Given the description of an element on the screen output the (x, y) to click on. 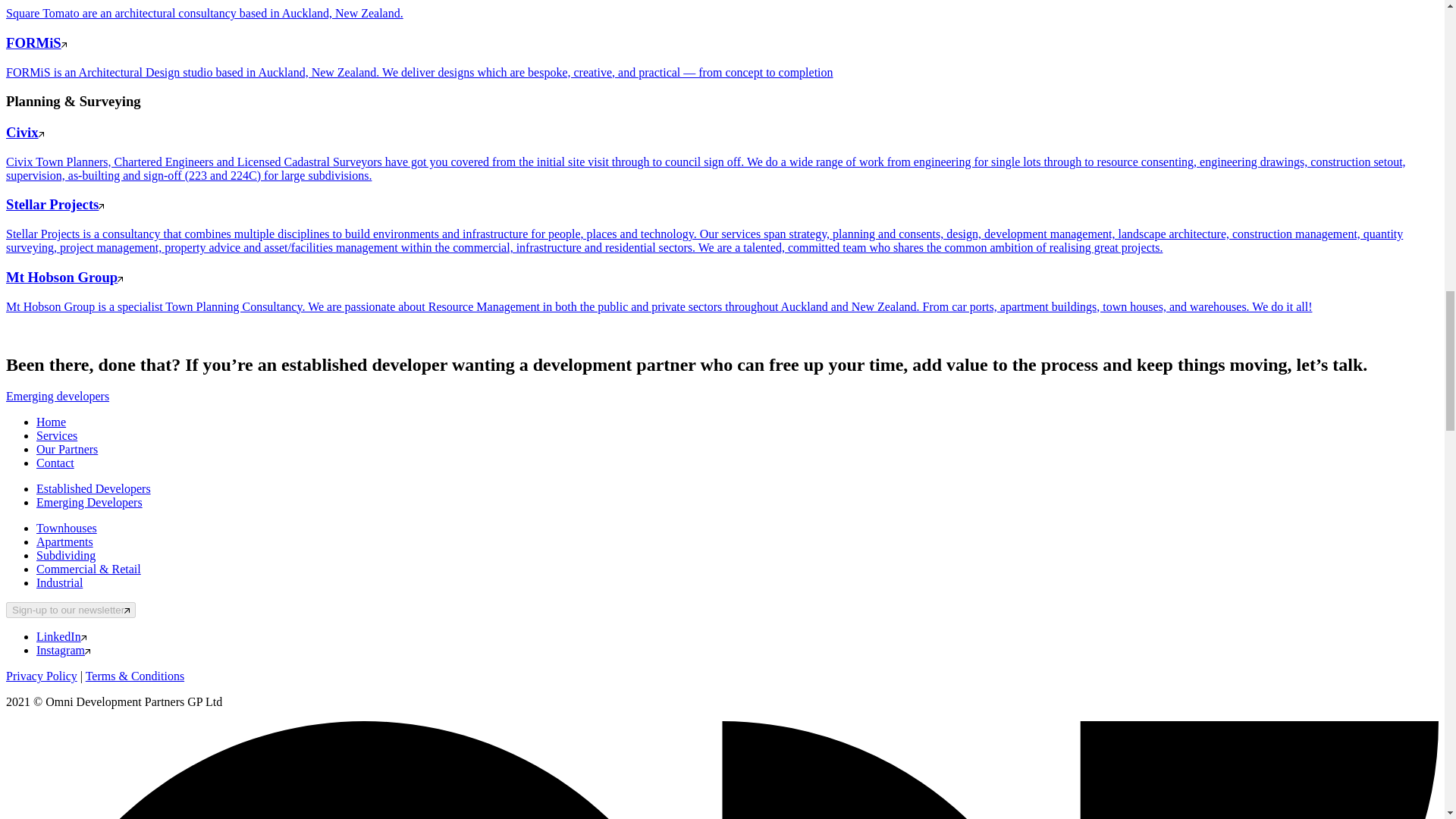
Our Partners (66, 449)
Services (56, 435)
Townhouses (66, 527)
Services (56, 435)
Emerging developers (57, 395)
Home (50, 421)
Home (50, 421)
Contact (55, 462)
Established Developers (93, 488)
Subdividing (66, 554)
Contact (55, 462)
Emerging Developers (89, 502)
Townhouses (66, 527)
Our Partners (66, 449)
Established Developers (93, 488)
